Given the description of an element on the screen output the (x, y) to click on. 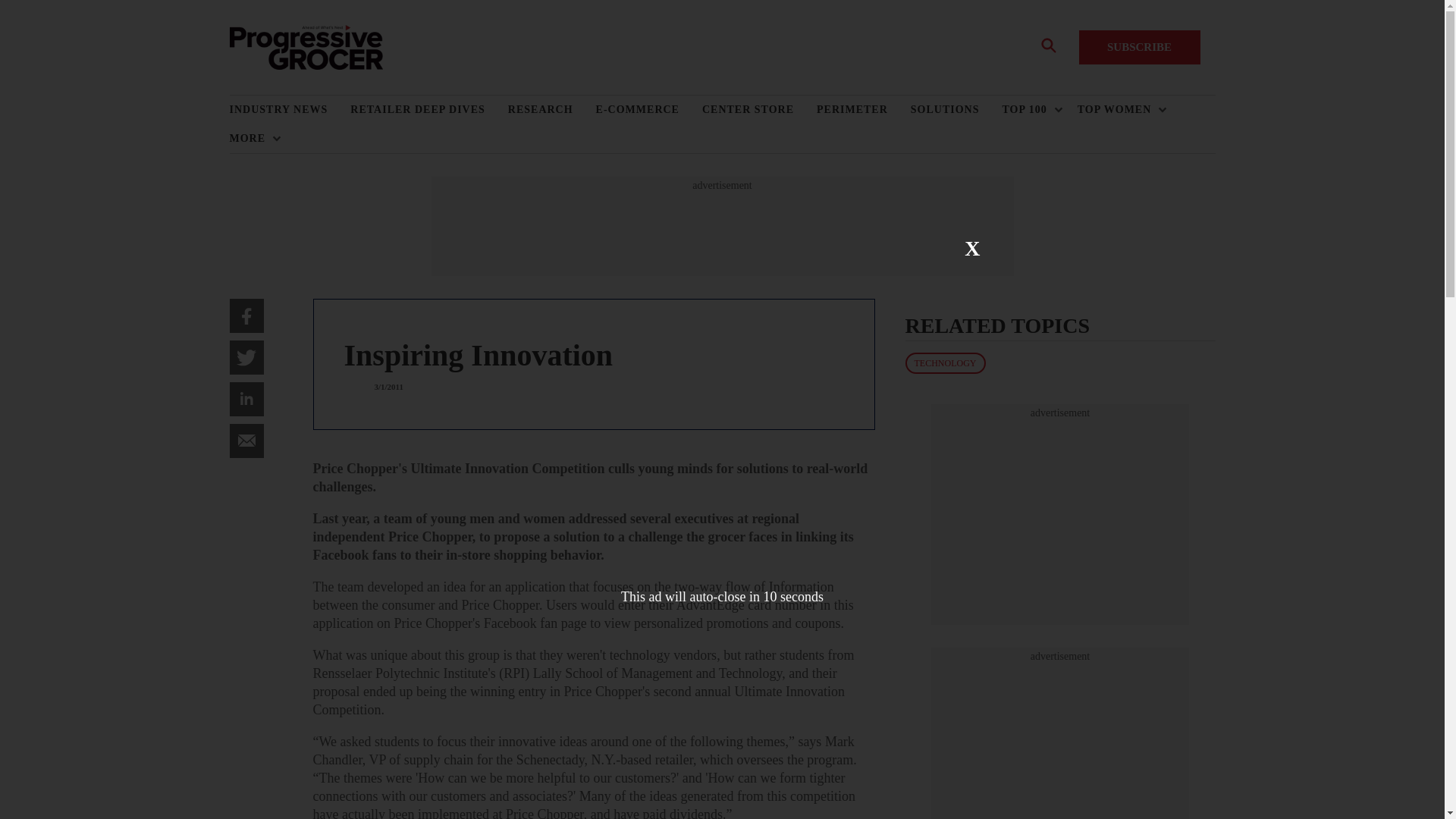
RETAILER DEEP DIVES (428, 109)
twitter (245, 357)
facebook (245, 315)
SUBSCRIBE (1138, 47)
MORE (250, 138)
SOLUTIONS (957, 109)
TOP WOMEN (1117, 109)
INDUSTRY NEWS (289, 109)
3rd party ad content (1059, 514)
